Given the description of an element on the screen output the (x, y) to click on. 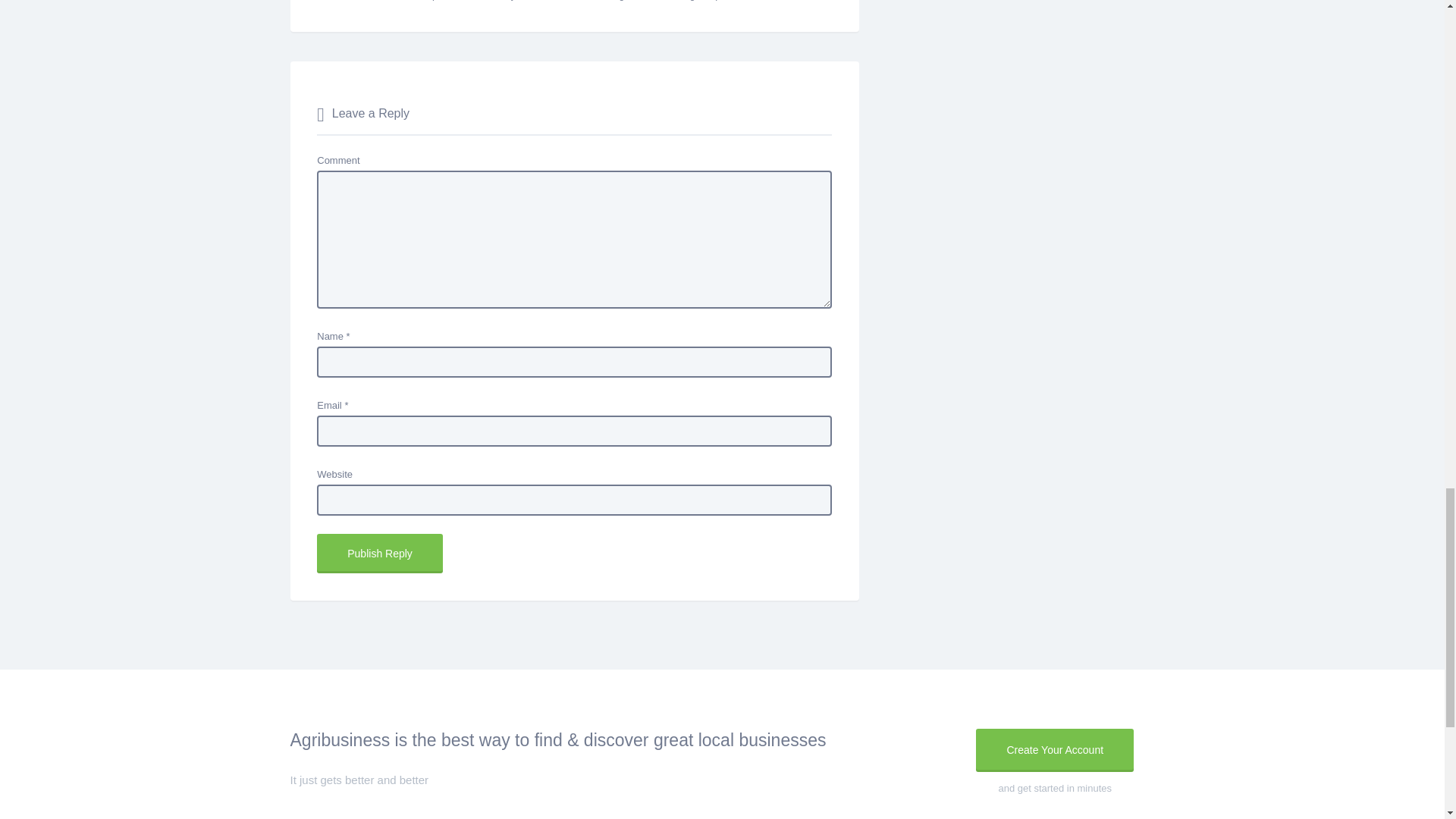
Publish Reply (379, 553)
